Given the description of an element on the screen output the (x, y) to click on. 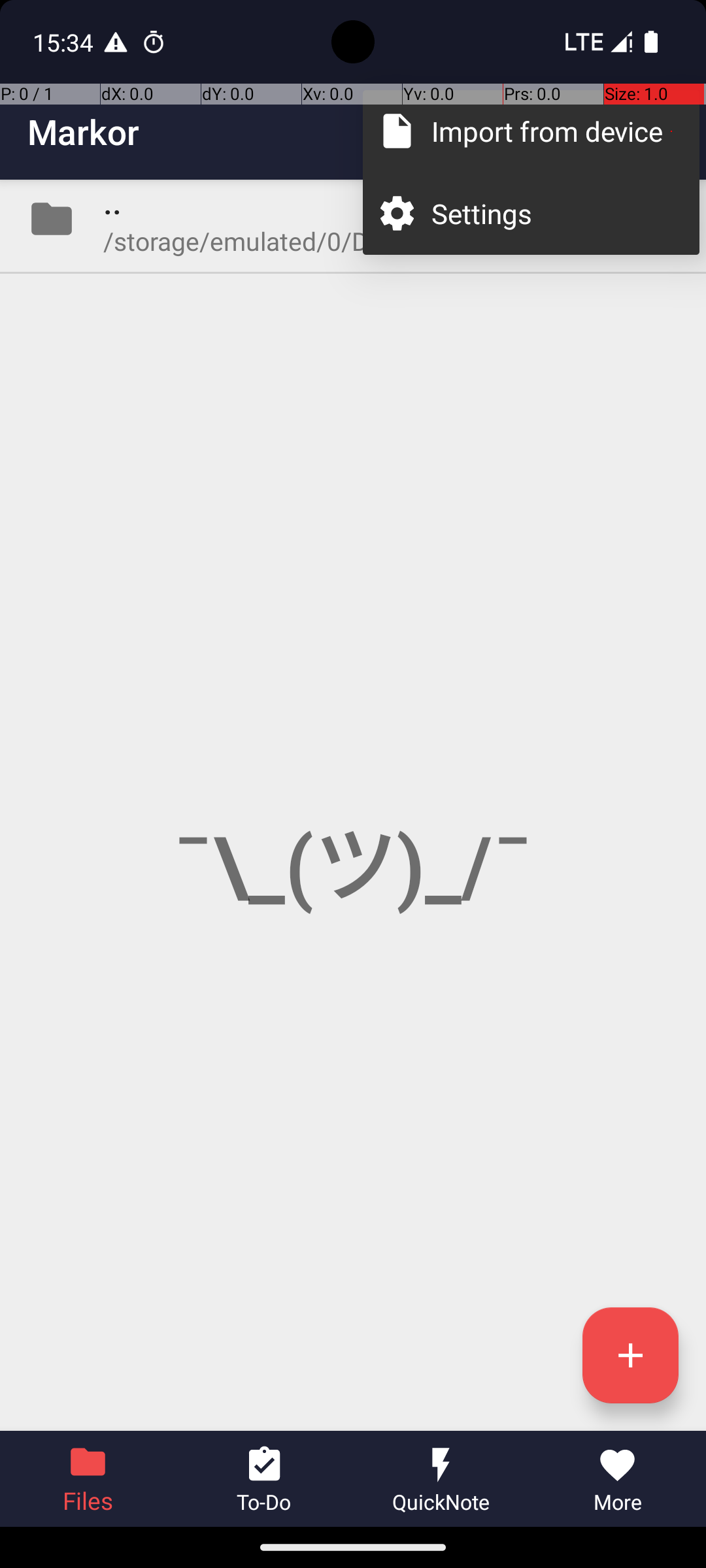
Import from device Element type: android.widget.TextView (551, 130)
